Given the description of an element on the screen output the (x, y) to click on. 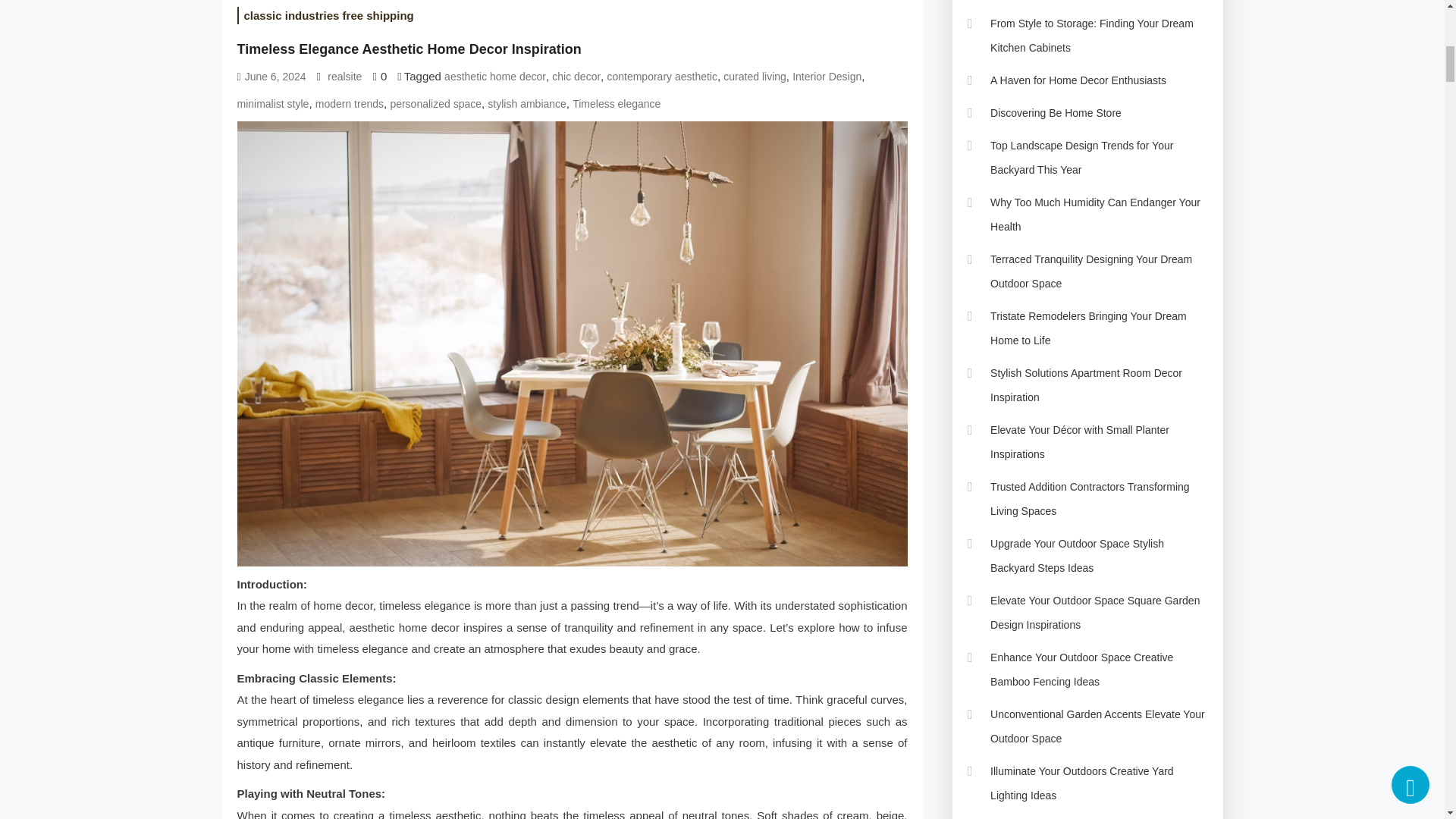
classic industries free shipping (327, 15)
realsite (344, 76)
June 6, 2024 (274, 76)
aesthetic home decor (495, 76)
Timeless Elegance Aesthetic Home Decor Inspiration (407, 48)
